Given the description of an element on the screen output the (x, y) to click on. 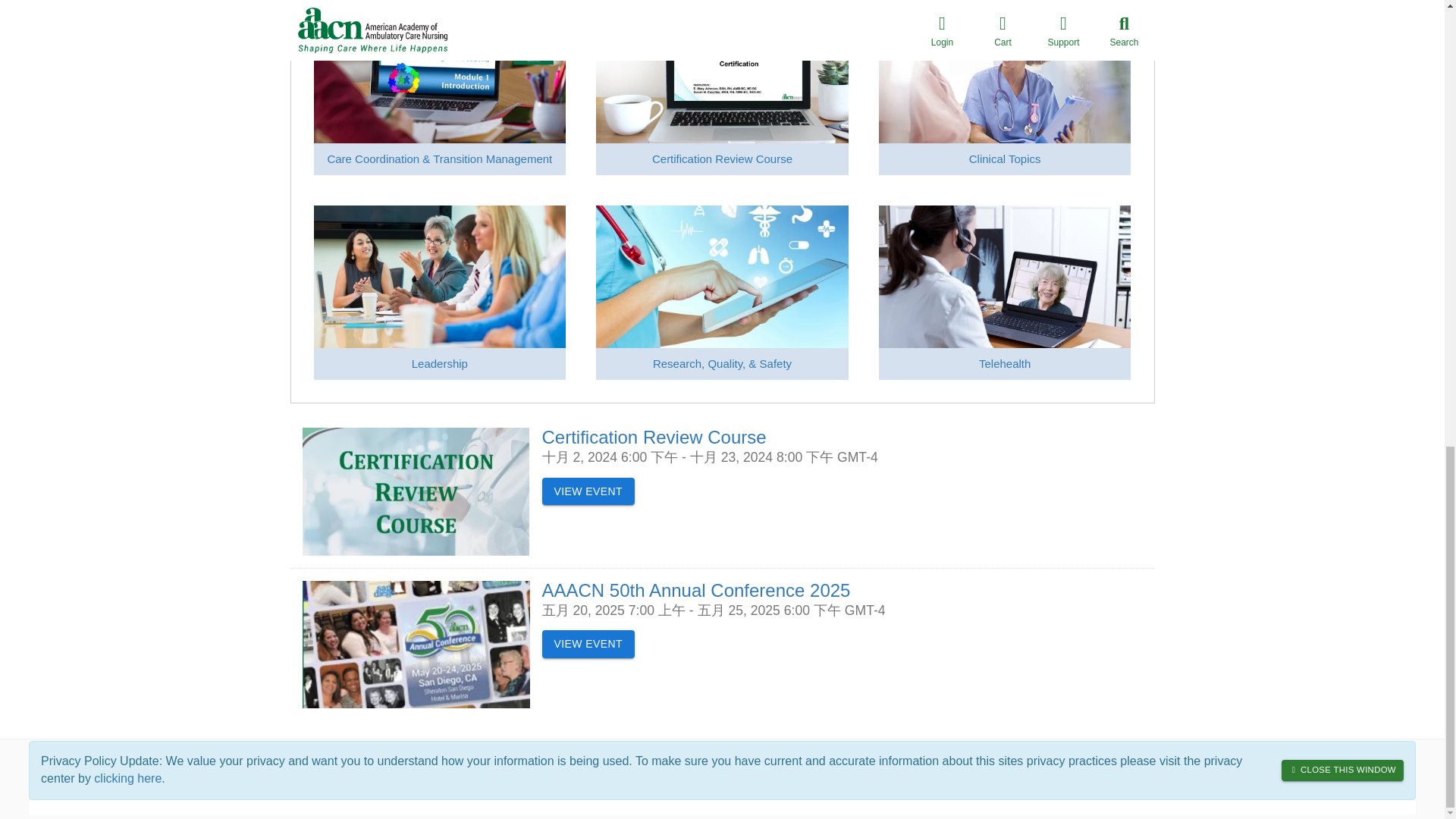
AAACN 50th Annual Conference 2025 (695, 589)
Certification Review Course (653, 436)
Certification Review Course (722, 158)
VIEW EVENT (587, 643)
AAACN Website (414, 779)
Leadership (439, 363)
Telehealth (1004, 363)
VIEW EVENT (587, 491)
Clinical Topics (1005, 158)
